Given the description of an element on the screen output the (x, y) to click on. 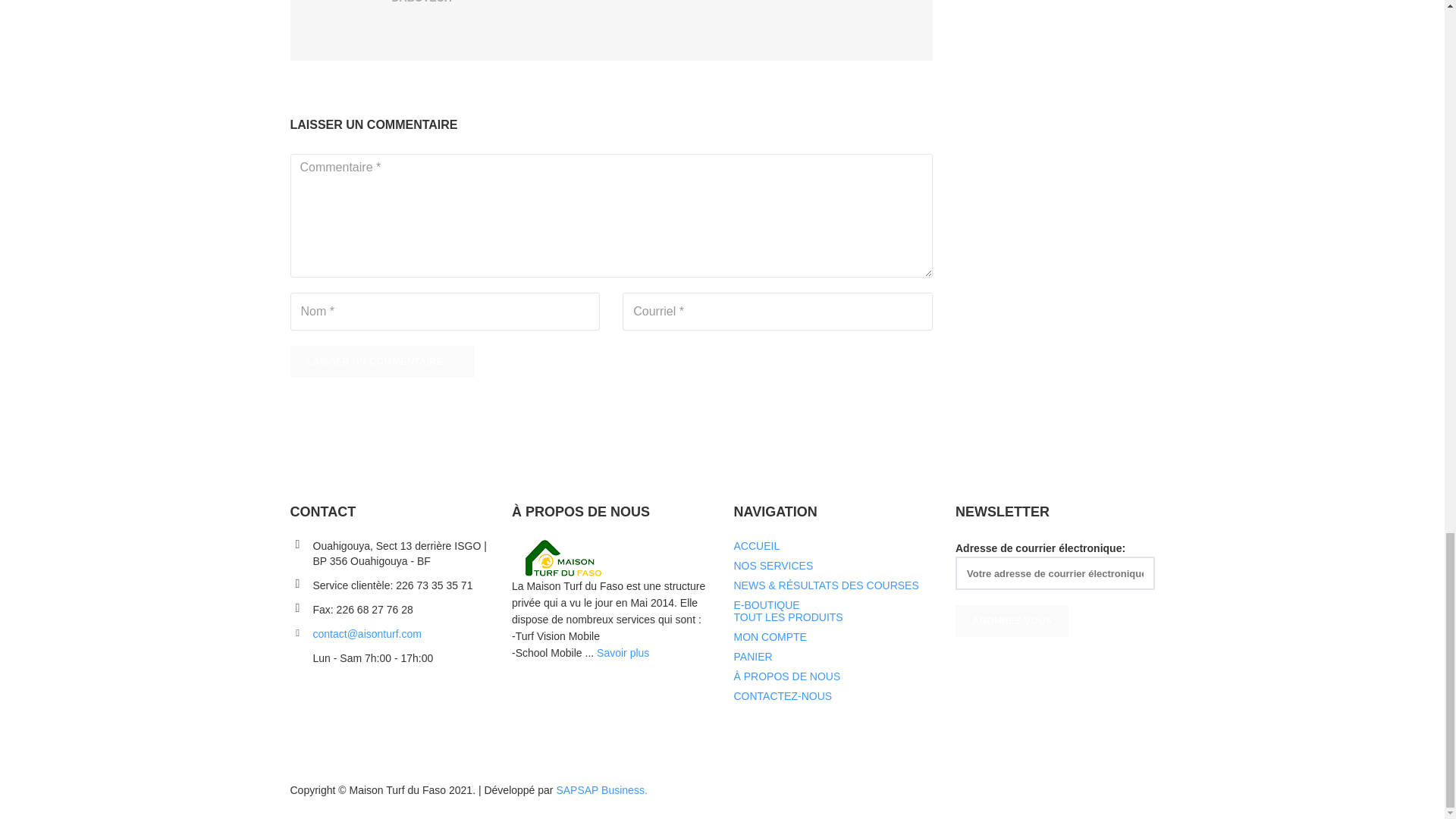
ACCUEIL (756, 545)
Abonnez-vous (1011, 621)
Savoir plus (622, 653)
NOS SERVICES (773, 565)
LAISSER UN COMMENTAIRE (381, 361)
